Given the description of an element on the screen output the (x, y) to click on. 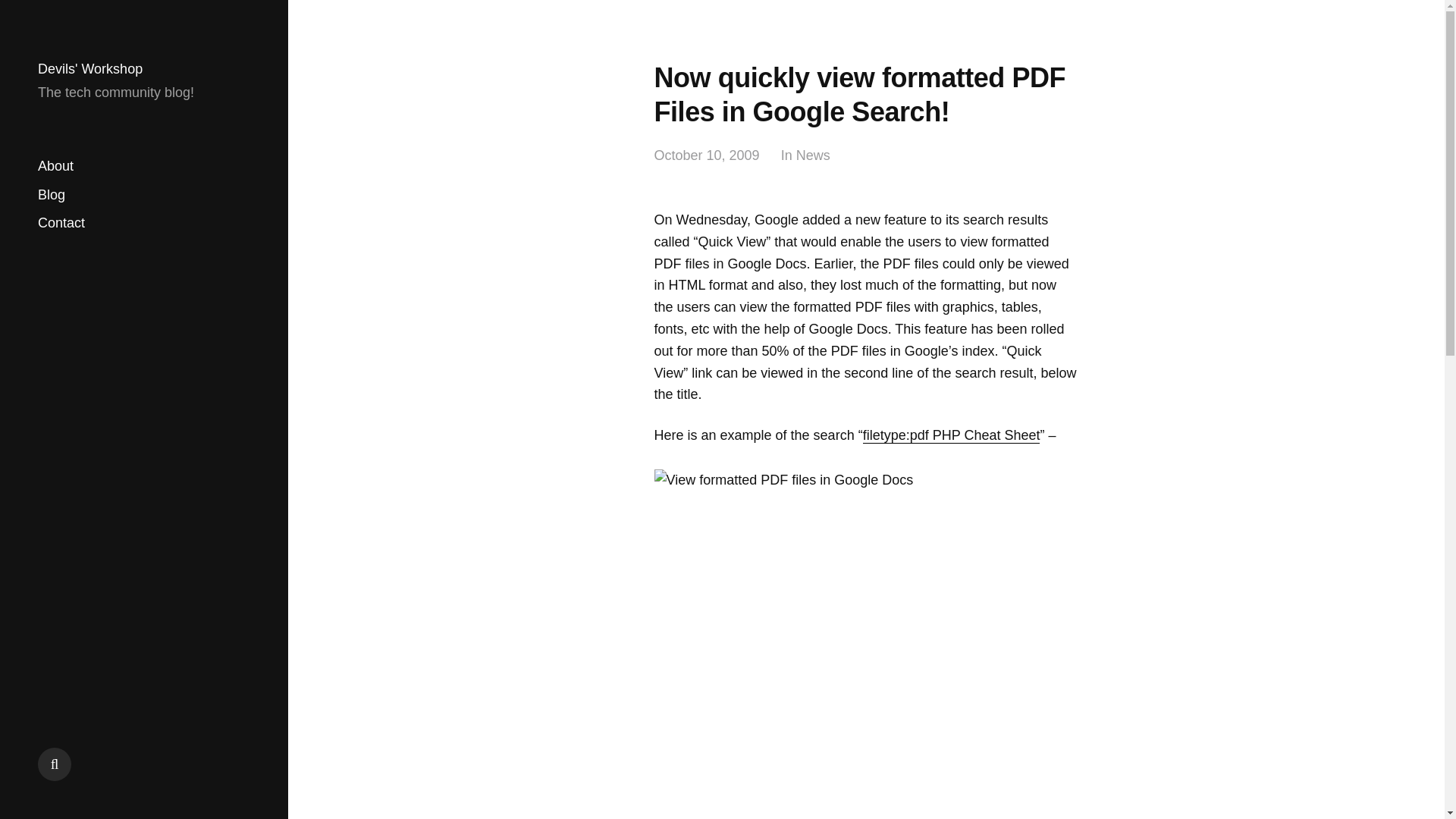
News (812, 155)
filetype:pdf PHP Cheat Sheet (952, 435)
October 10, 2009 (705, 155)
Contact (60, 222)
Google Search Results for filetype:pdf PHP Cheat Sheet (952, 435)
Devils' Workshop (89, 68)
Blog (51, 194)
About (55, 166)
